Given the description of an element on the screen output the (x, y) to click on. 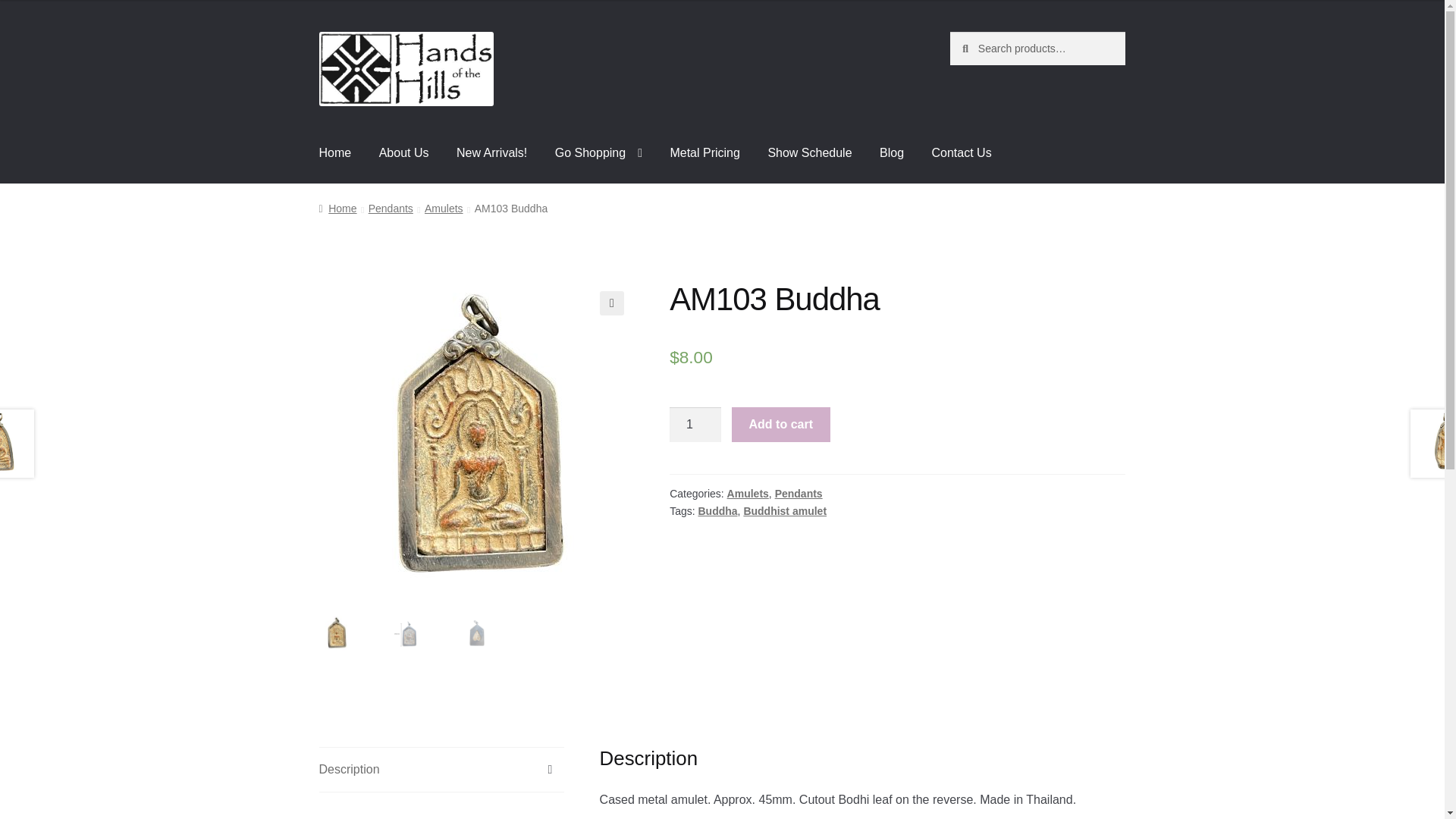
1 (694, 424)
Go Shopping (598, 152)
Home (335, 152)
New Arrivals! (491, 152)
About Us (403, 152)
